Given the description of an element on the screen output the (x, y) to click on. 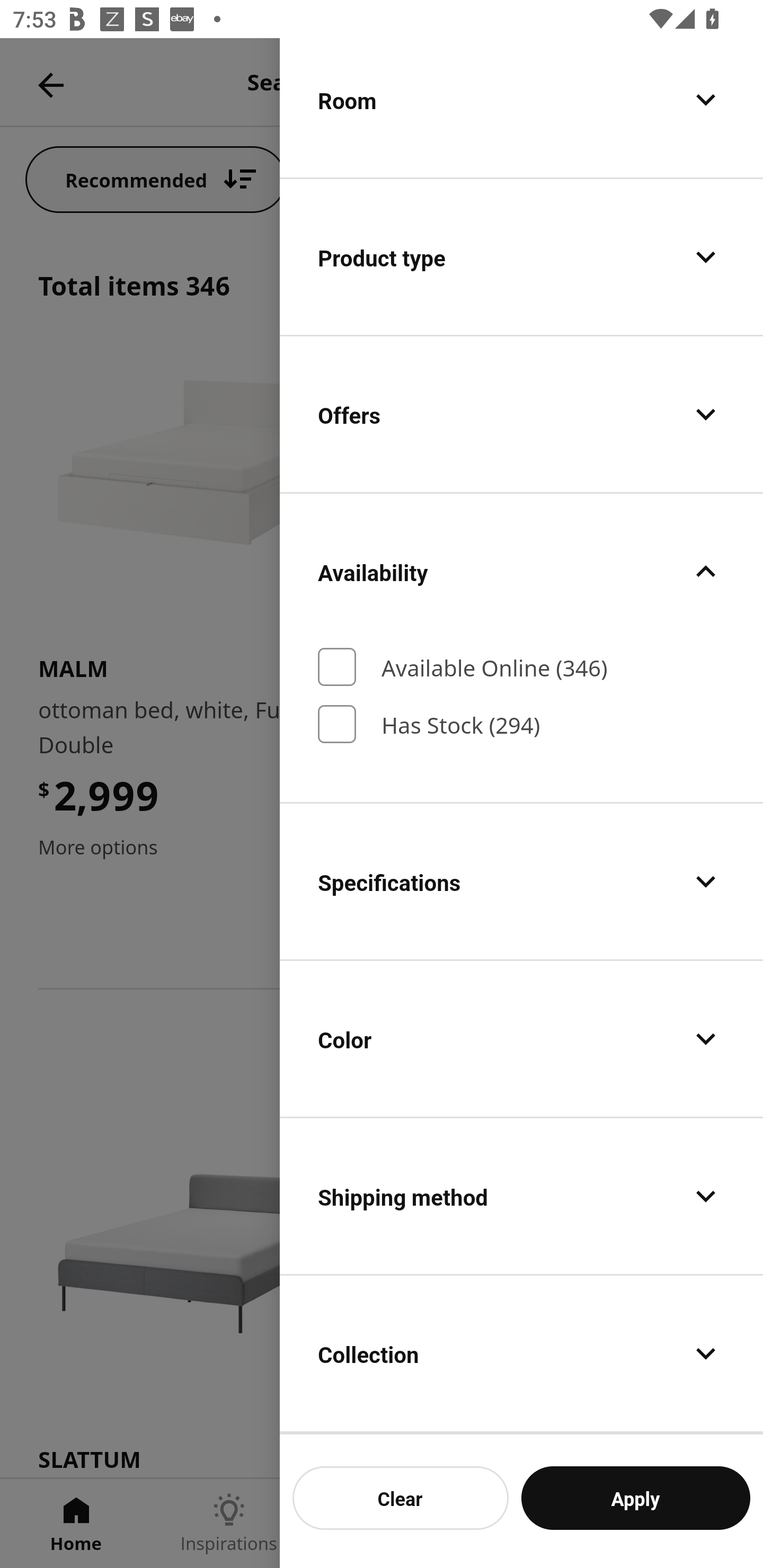
Room (521, 106)
Product type (521, 256)
Offers (521, 414)
Availability (521, 571)
Available Online (346) (521, 666)
Has Stock (294) (521, 724)
Specifications (521, 881)
Color (521, 1038)
Shipping method (521, 1195)
Collection (521, 1353)
Clear (400, 1498)
Apply (635, 1498)
